Given the description of an element on the screen output the (x, y) to click on. 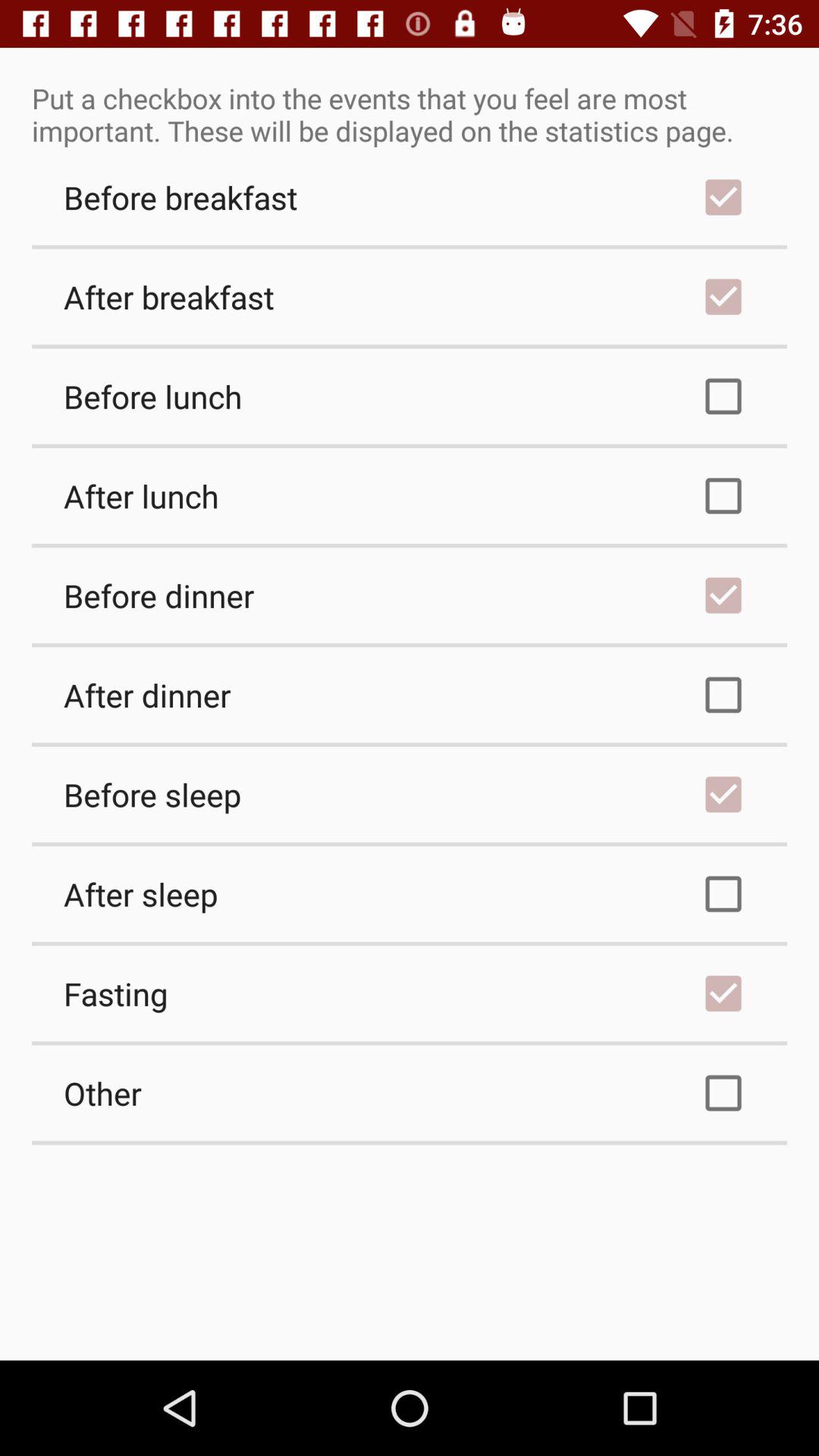
open the fasting checkbox (409, 993)
